Given the description of an element on the screen output the (x, y) to click on. 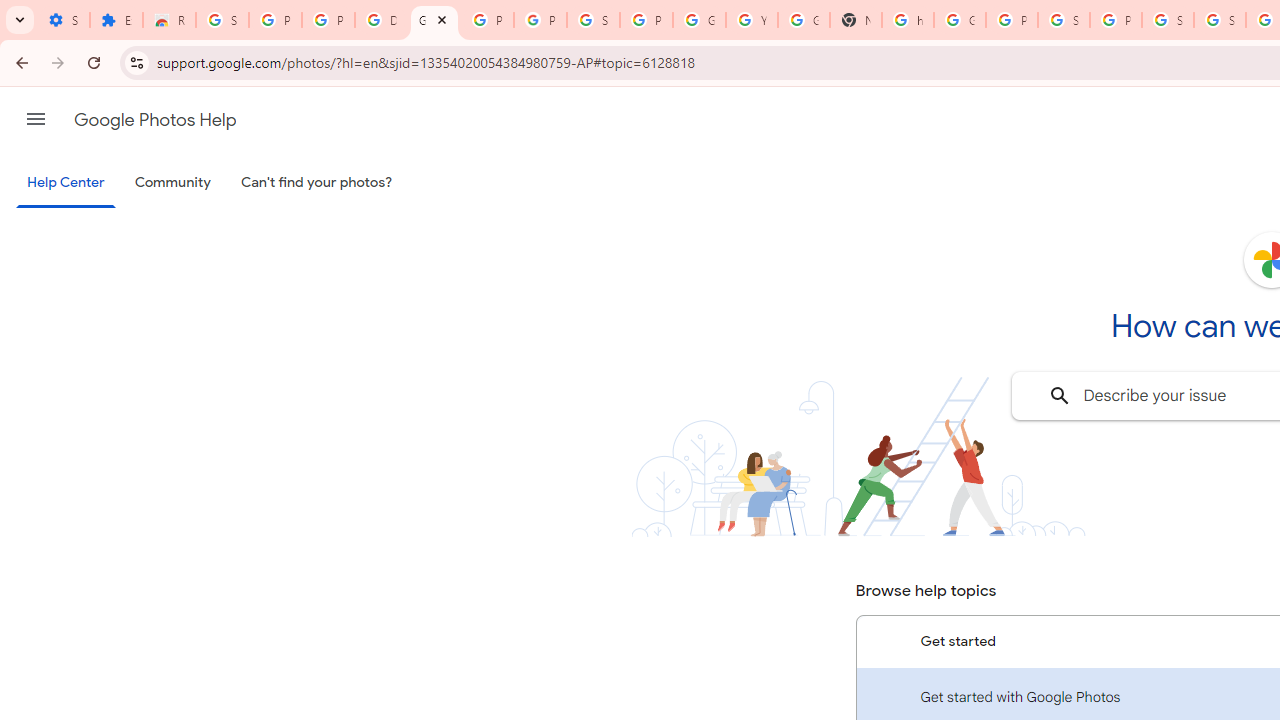
Google Photos Help (155, 119)
Google Photos Help (434, 20)
Settings - On startup (63, 20)
